Given the description of an element on the screen output the (x, y) to click on. 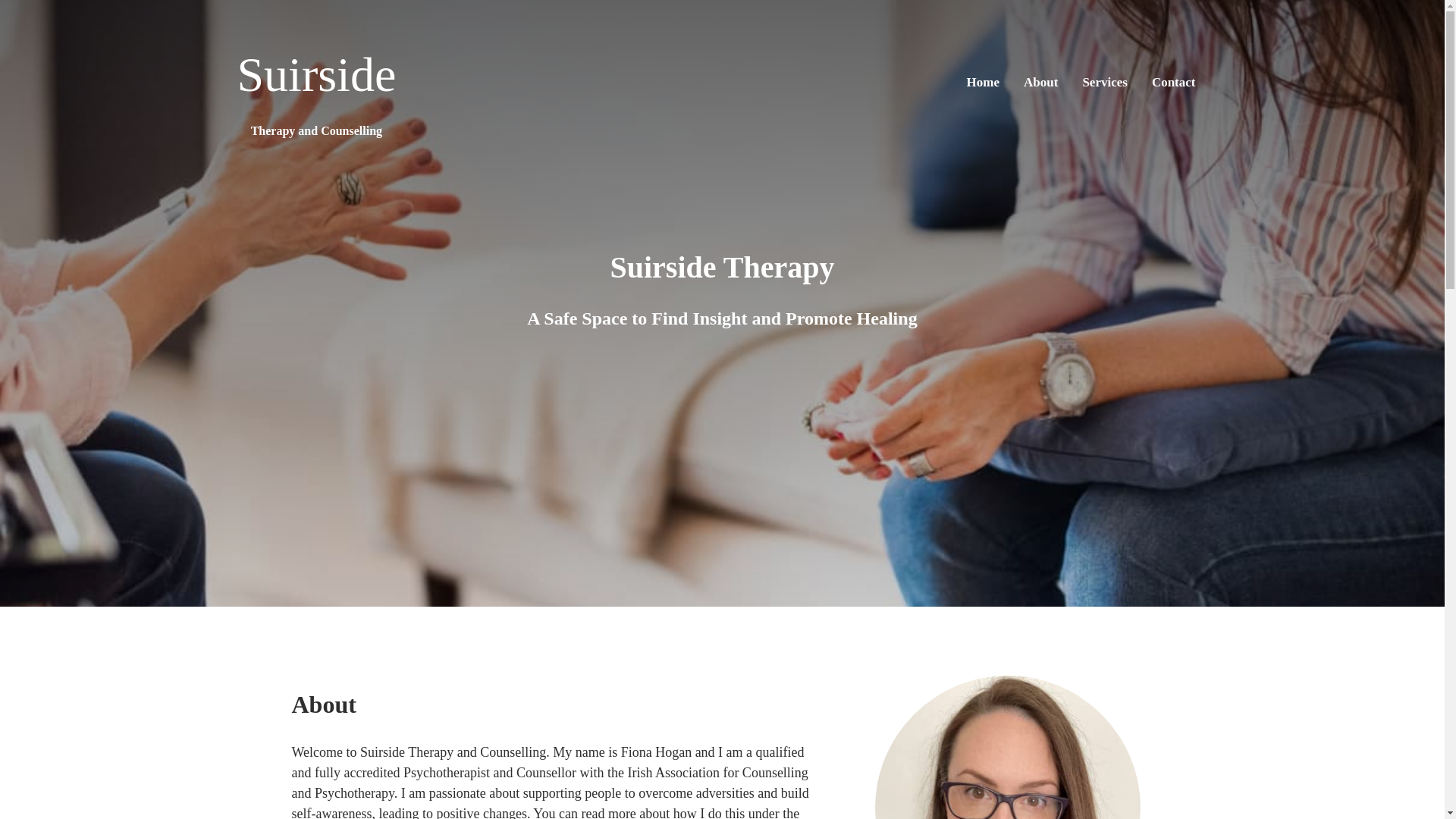
Services (1104, 82)
Home (315, 82)
About (983, 82)
Contact (1040, 82)
